Given the description of an element on the screen output the (x, y) to click on. 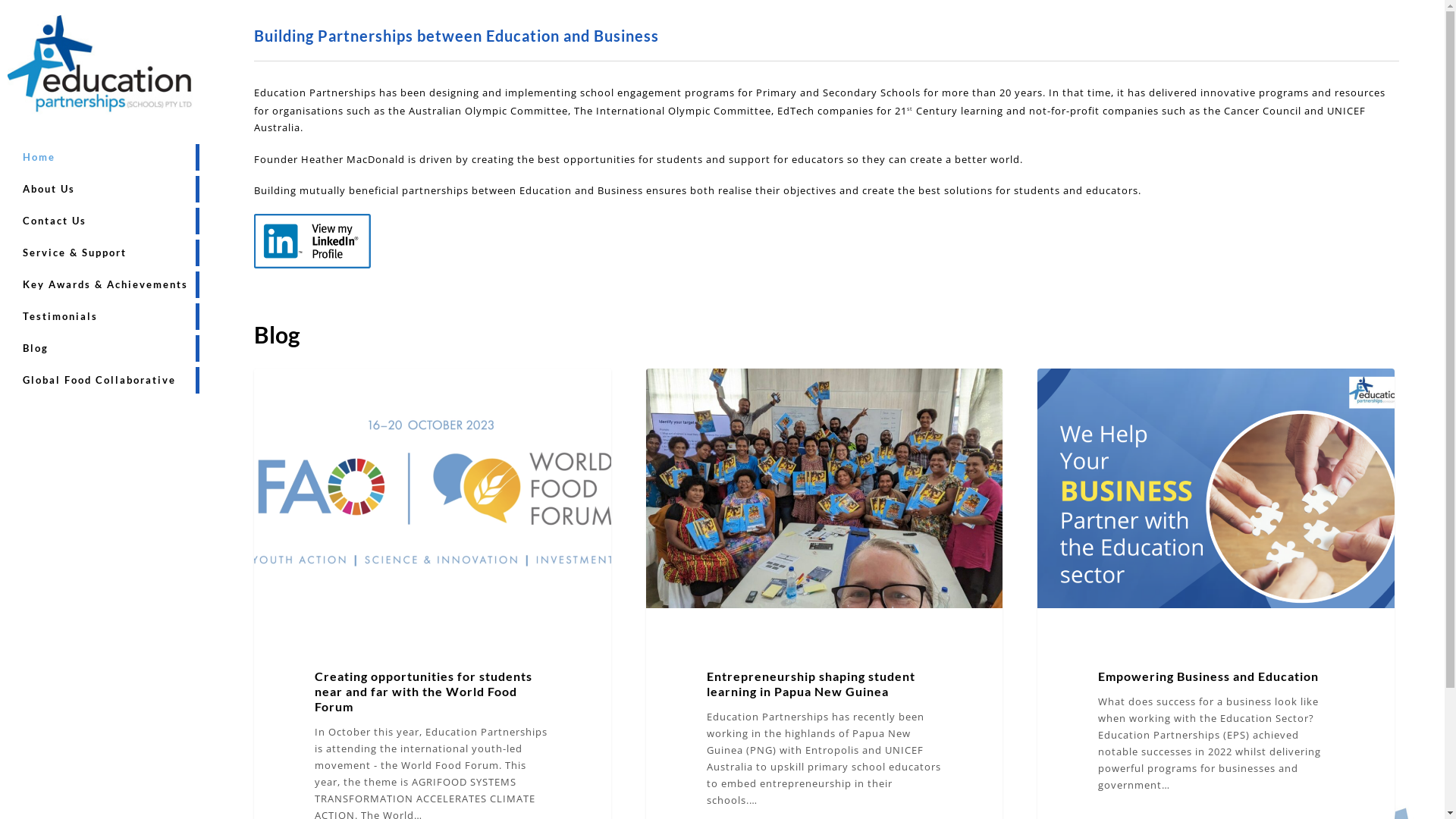
Key Awards & Achievements Element type: text (105, 284)
Contact Us Element type: text (54, 221)
Global Food Collaborative Element type: text (98, 380)
About Us Element type: text (48, 189)
Service & Support Element type: text (74, 252)
Blog Element type: text (35, 348)
Home Element type: text (38, 157)
Testimonials Element type: text (59, 316)
